Given the description of an element on the screen output the (x, y) to click on. 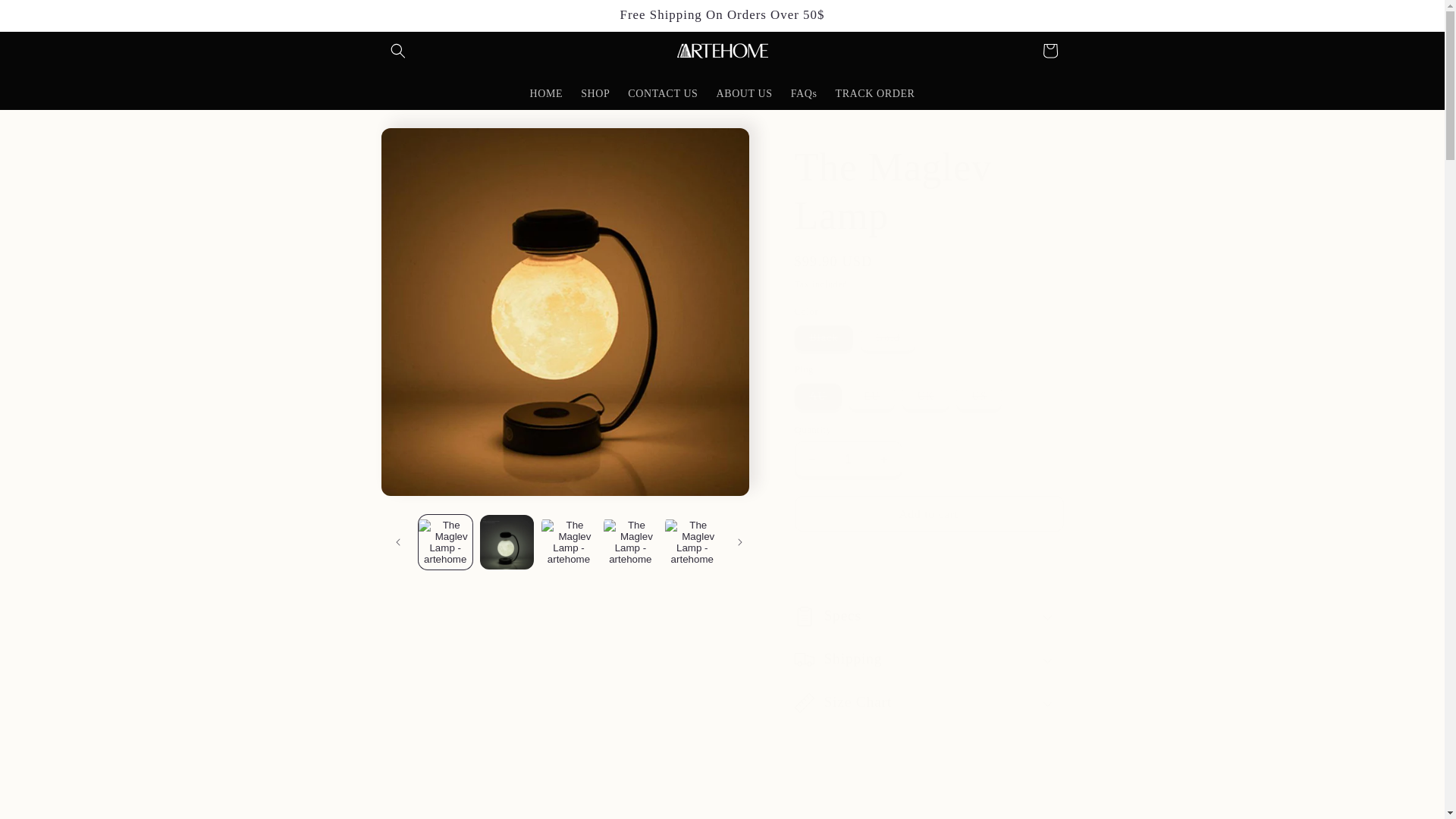
1 (848, 458)
HOME (546, 93)
CONTACT US (662, 93)
ABOUT US (743, 93)
SHOP (595, 93)
Skip to product information (426, 144)
Cart (1048, 50)
Skip to content (45, 17)
TRACK ORDER (874, 93)
